Given the description of an element on the screen output the (x, y) to click on. 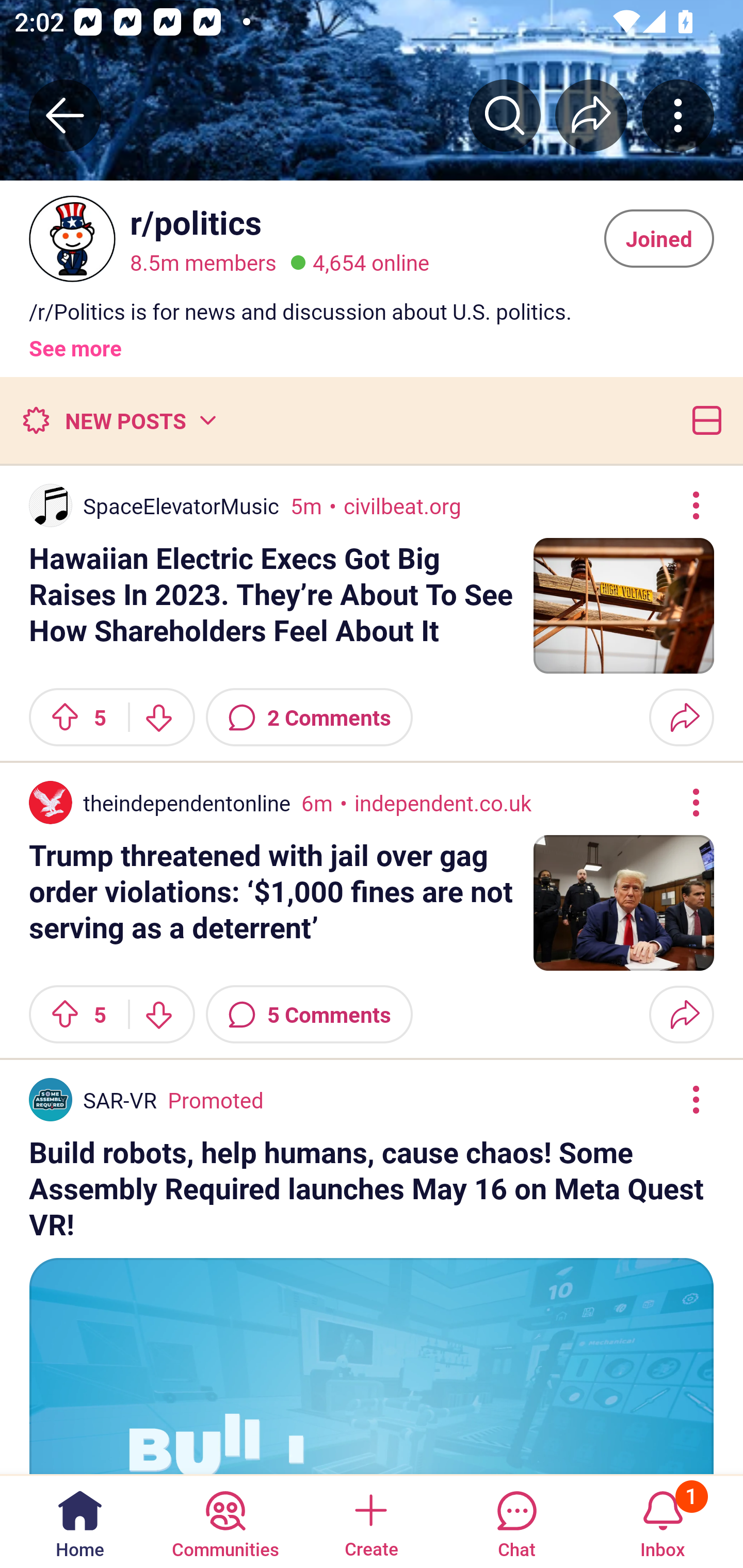
Back (64, 115)
Search r/﻿politics (504, 115)
Share r/﻿politics (591, 115)
More community actions (677, 115)
New posts NEW POSTS (118, 420)
Card (703, 420)
Home (80, 1520)
Communities (225, 1520)
Create a post Create (370, 1520)
Chat (516, 1520)
Inbox, has 1 notification 1 Inbox (662, 1520)
